Given the description of an element on the screen output the (x, y) to click on. 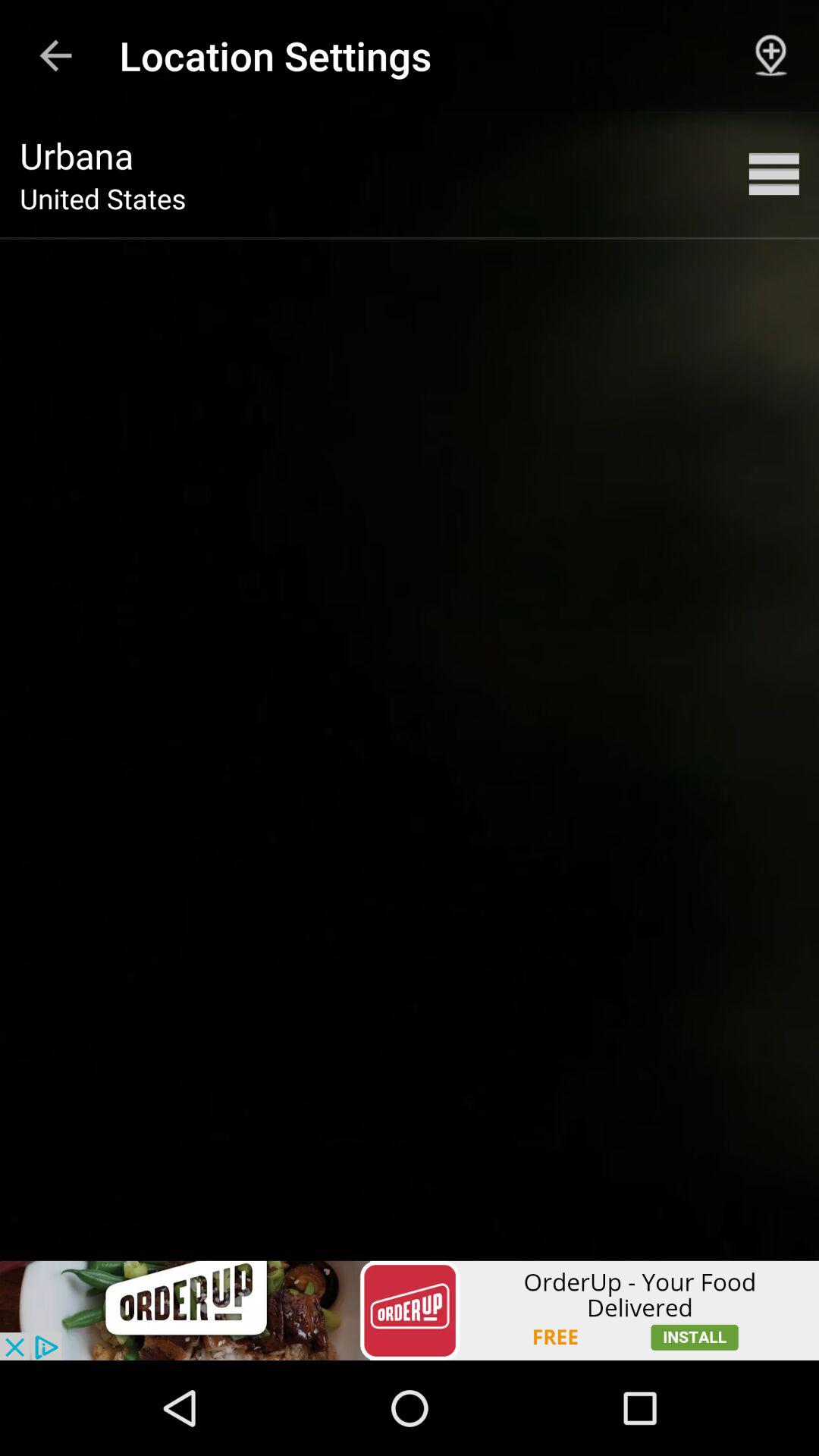
link to advertisement (409, 1310)
